Given the description of an element on the screen output the (x, y) to click on. 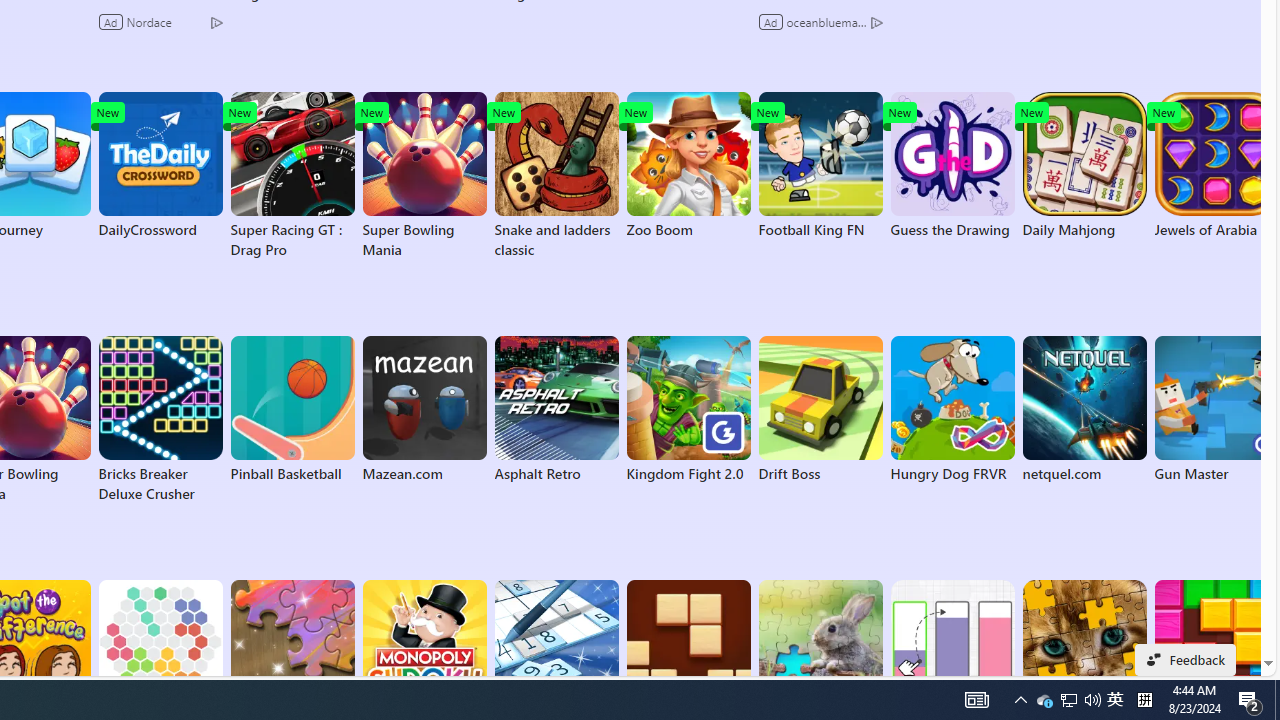
Hungry Dog FRVR (952, 409)
Kingdom Fight 2.0 (688, 409)
Snake and ladders classic (556, 175)
Daily Mahjong (1083, 165)
Class: ad-choice  ad-choice-mono  (876, 21)
netquel.com (1083, 409)
Super Bowling Mania (424, 175)
